Given the description of an element on the screen output the (x, y) to click on. 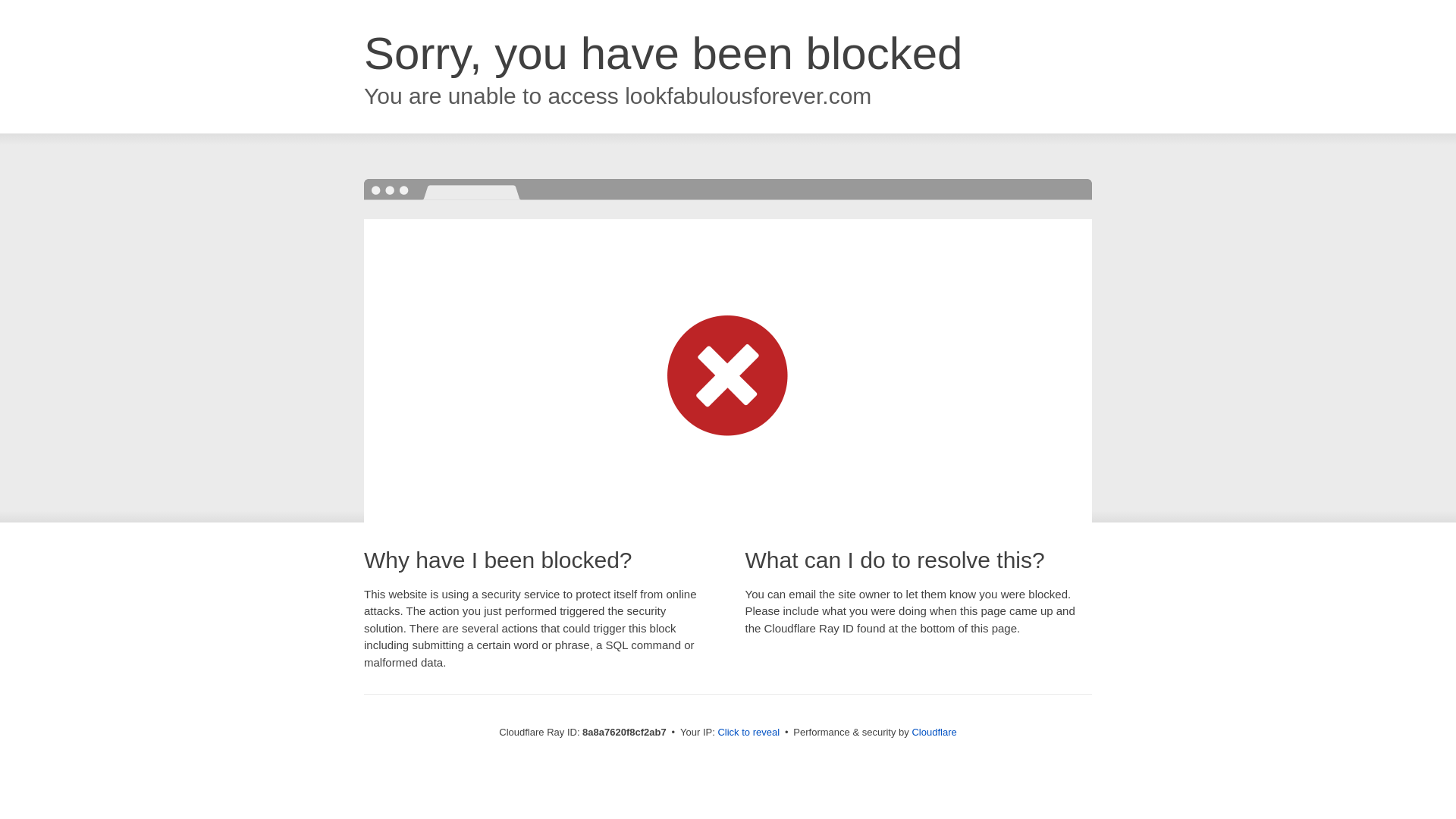
Click to reveal (747, 732)
Cloudflare (933, 731)
